Given the description of an element on the screen output the (x, y) to click on. 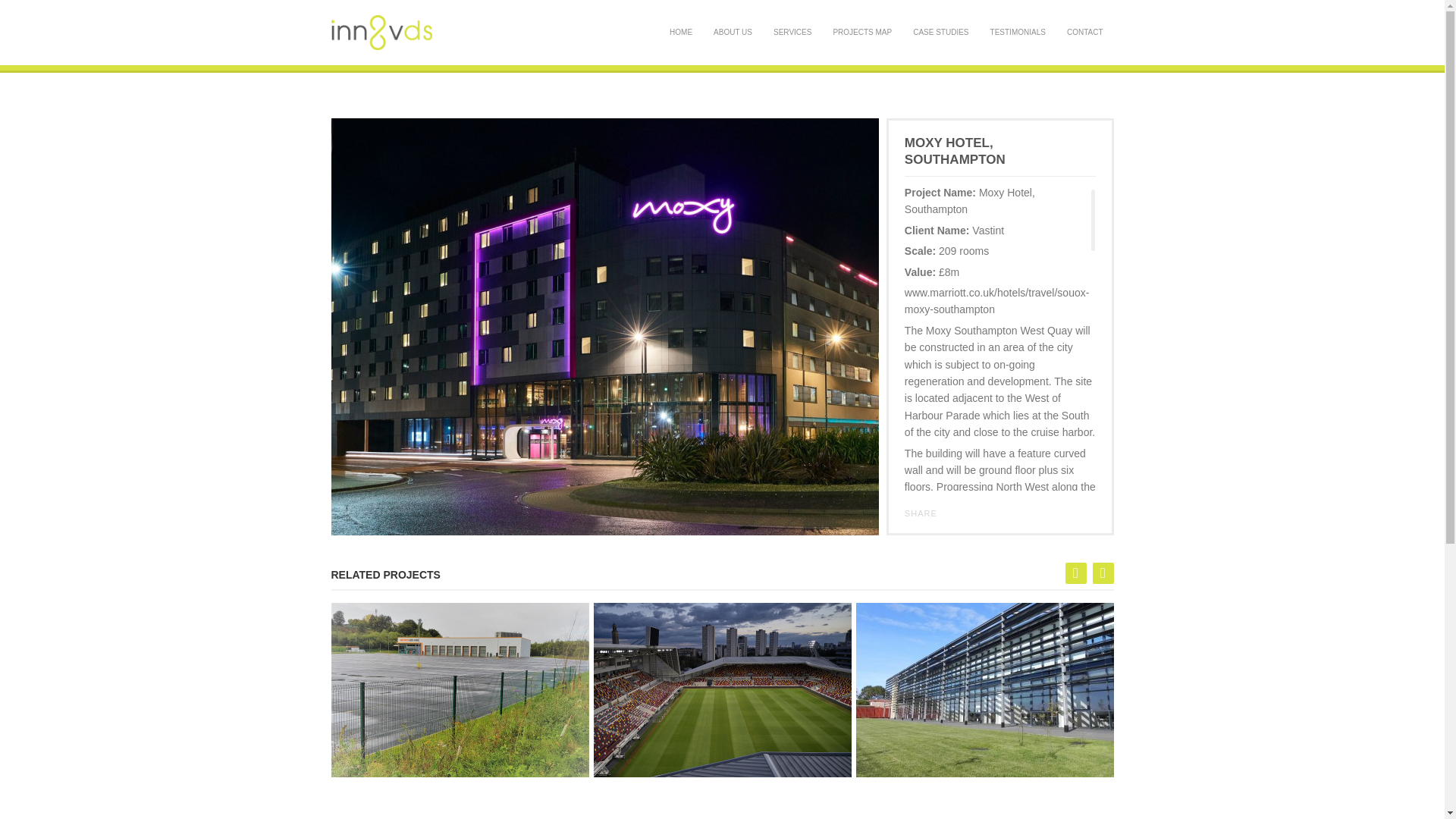
PROJECTS MAP (862, 32)
Pinterest (1005, 512)
HOME (681, 32)
CONTACT (1085, 32)
SALFORD VAN HIRE, CRUMPSALL (459, 689)
Facebook (953, 512)
SERVICES (792, 32)
Twitter (970, 512)
TESTIMONIALS (1018, 32)
ABOUT US (732, 32)
CASE STUDIES (940, 32)
BRENTFORD COMMUNITY STADIUM, LONDON (721, 689)
CATHEDRAL PARK, WELLS, SOMERSET (984, 689)
